Given the description of an element on the screen output the (x, y) to click on. 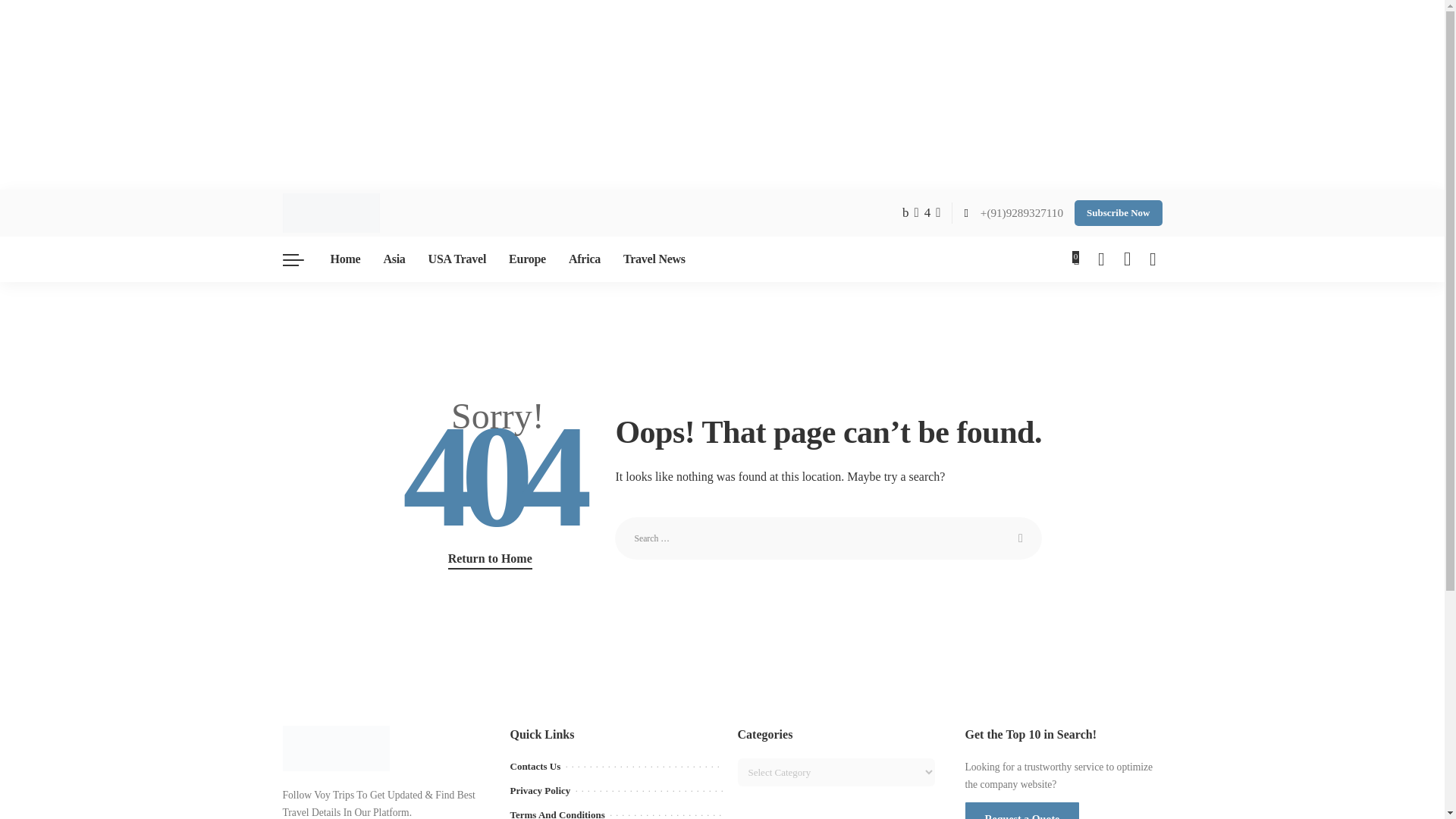
Asia (393, 258)
Subscribe Now (1117, 212)
Europe (527, 258)
Home (344, 258)
Search (1020, 537)
Return to Home (490, 559)
Search (1020, 537)
Voy Trips (330, 212)
USA Travel (456, 258)
